Given the description of an element on the screen output the (x, y) to click on. 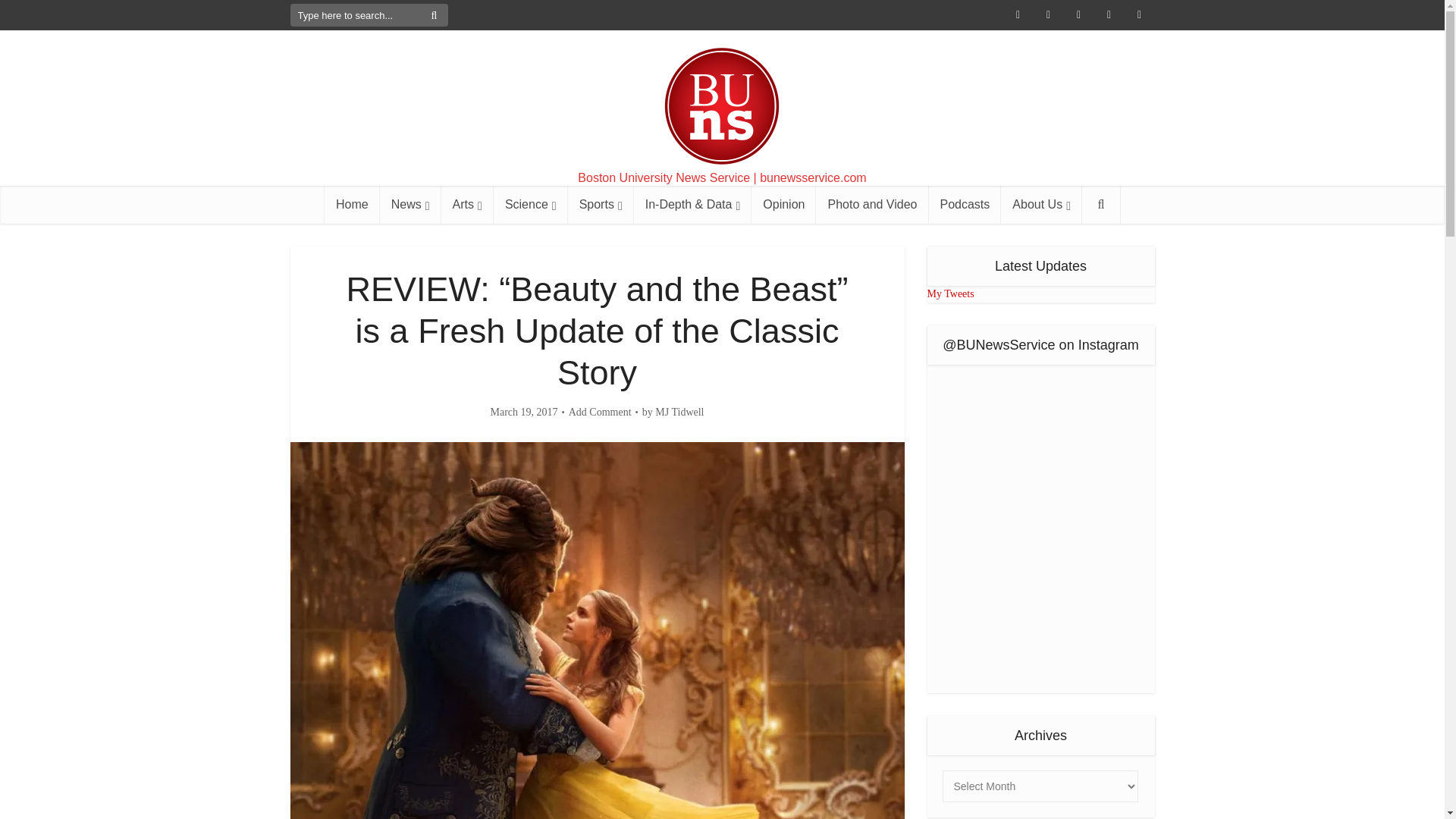
Add Comment (600, 412)
MJ Tidwell (679, 412)
Home (352, 204)
Podcasts (964, 204)
Type here to search... (367, 15)
Photo and Video (871, 204)
Science (530, 204)
News (410, 204)
About Us (1041, 204)
Sports (600, 204)
Arts (467, 204)
Opinion (783, 204)
Type here to search... (367, 15)
